Given the description of an element on the screen output the (x, y) to click on. 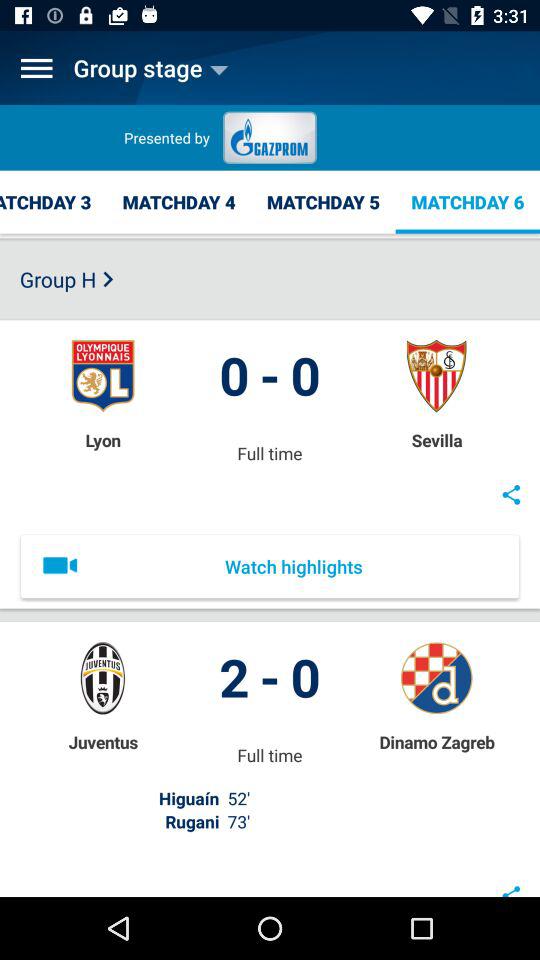
toggle menu options (36, 68)
